Given the description of an element on the screen output the (x, y) to click on. 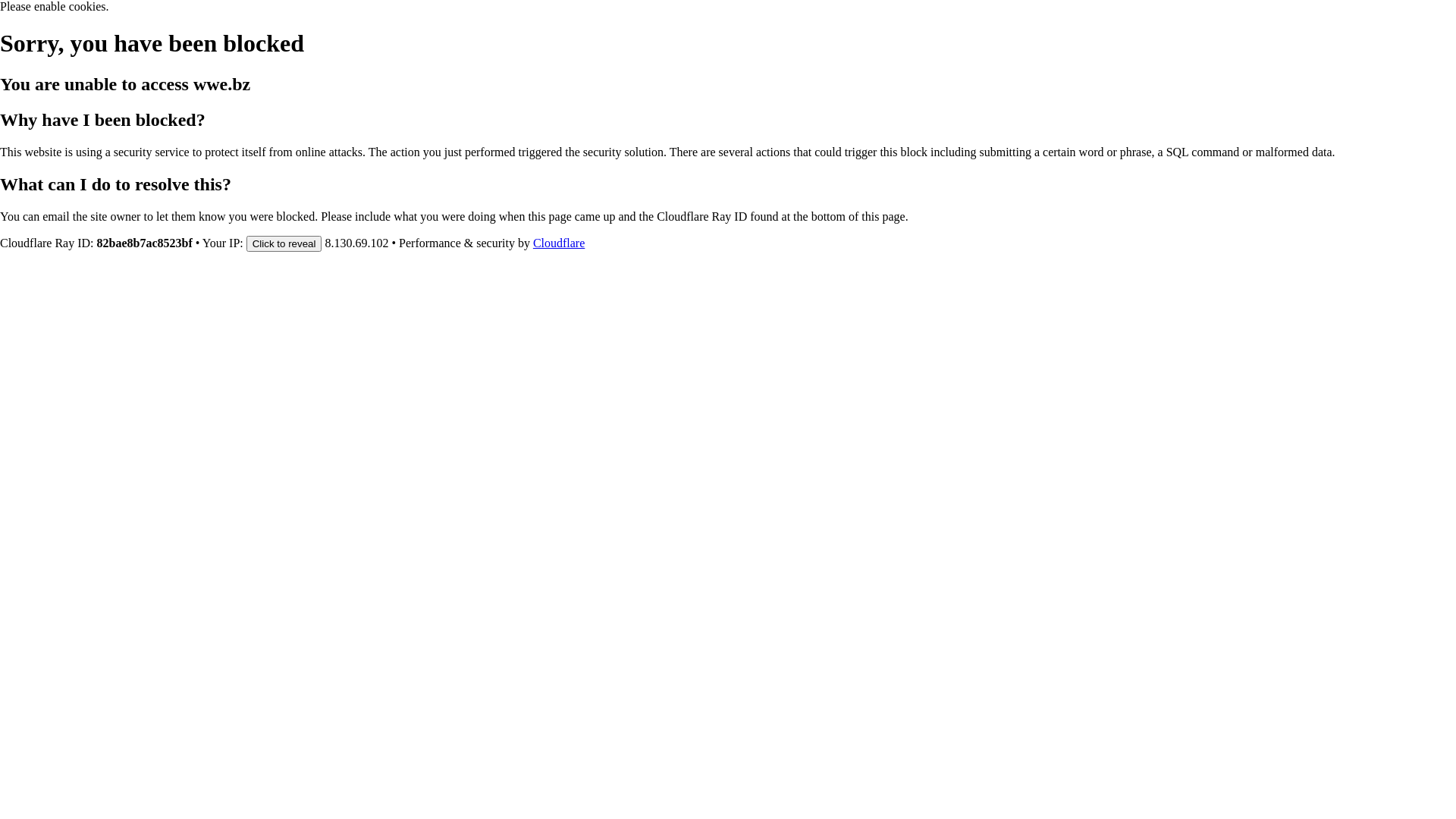
Cloudflare Element type: text (558, 242)
Click to reveal Element type: text (284, 243)
